Given the description of an element on the screen output the (x, y) to click on. 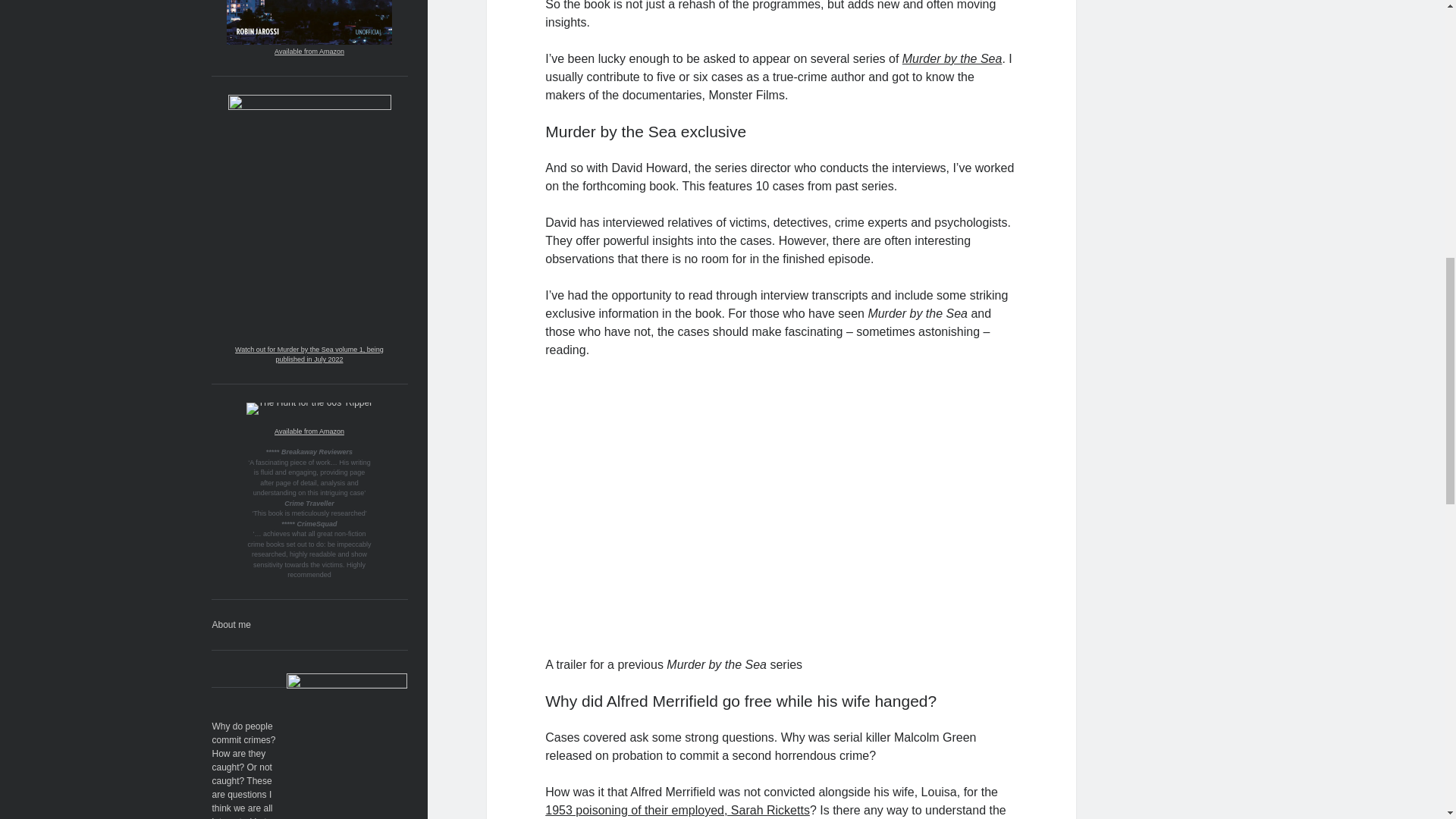
Available from Amazon (1028, 250)
Murder by the Sea (447, 228)
Murder by the Sea (406, 578)
